Given the description of an element on the screen output the (x, y) to click on. 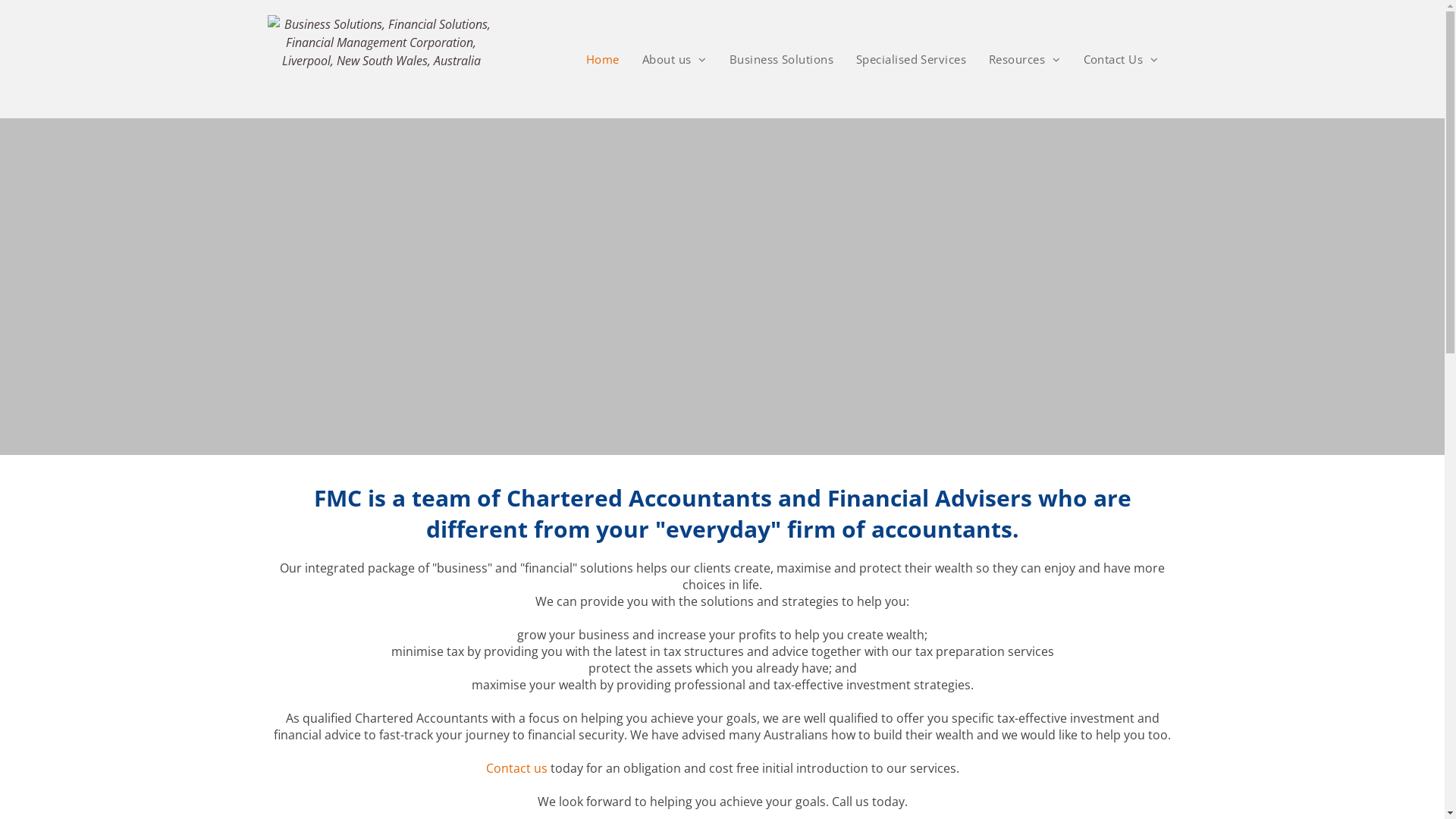
Resources Element type: text (1024, 59)
Contact Us Element type: text (1121, 59)
About us Element type: text (674, 59)
Specialised Services Element type: text (910, 59)
Home Element type: text (602, 59)
Contact us Element type: text (515, 767)
Business Solutions Element type: text (781, 59)
